Given the description of an element on the screen output the (x, y) to click on. 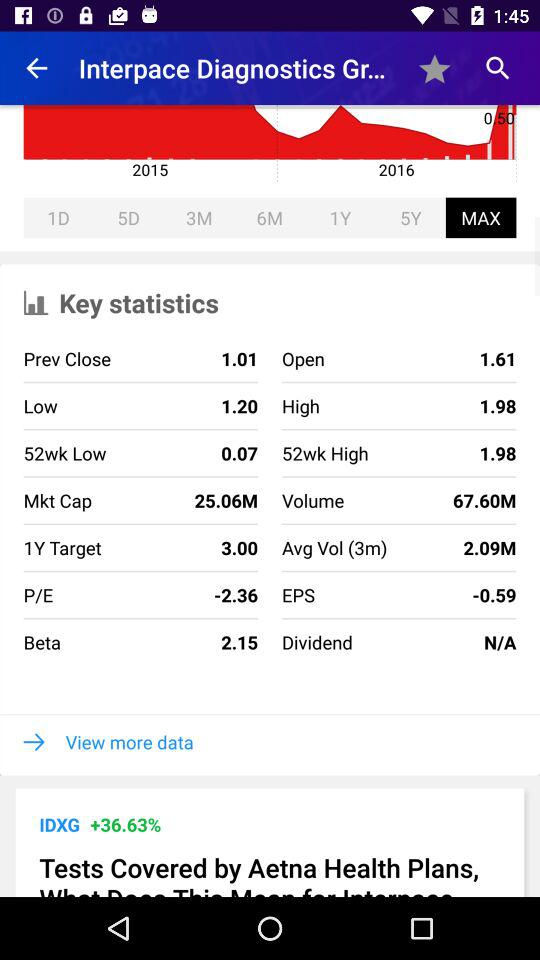
turn on the icon at the bottom right corner (434, 642)
